Given the description of an element on the screen output the (x, y) to click on. 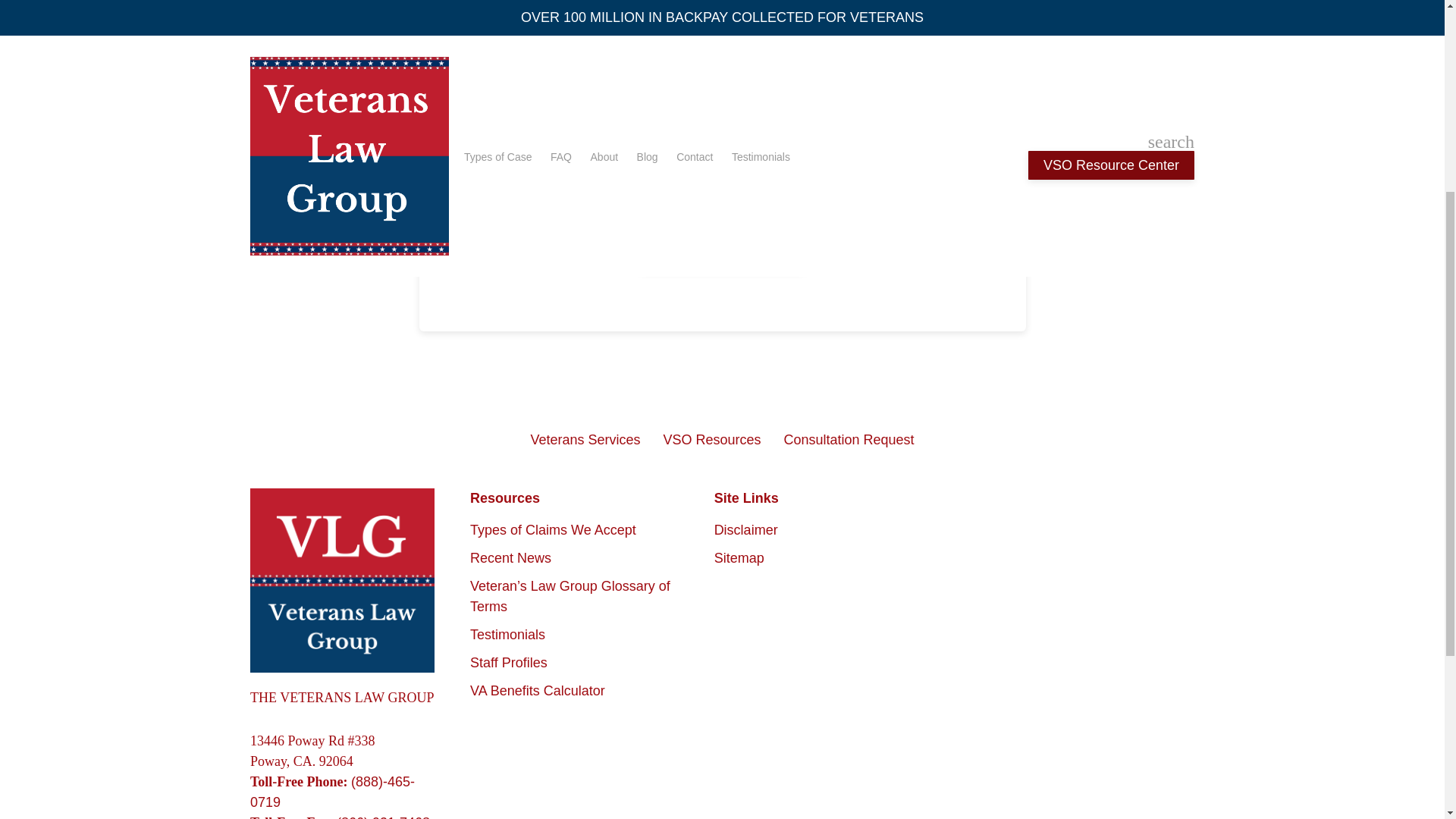
Testimonials (507, 634)
Consultation Request (849, 439)
Recent News (510, 557)
Staff Profiles (508, 662)
Logo 1-4 (341, 580)
Veterans Services (584, 439)
Sitemap (739, 557)
Resources (584, 498)
VSO Resources (711, 439)
Types of Claims We Accept (553, 529)
Site Links (828, 498)
Disclaimer (745, 529)
Go back to homepage (722, 253)
VA Benefits Calculator (537, 690)
